Given the description of an element on the screen output the (x, y) to click on. 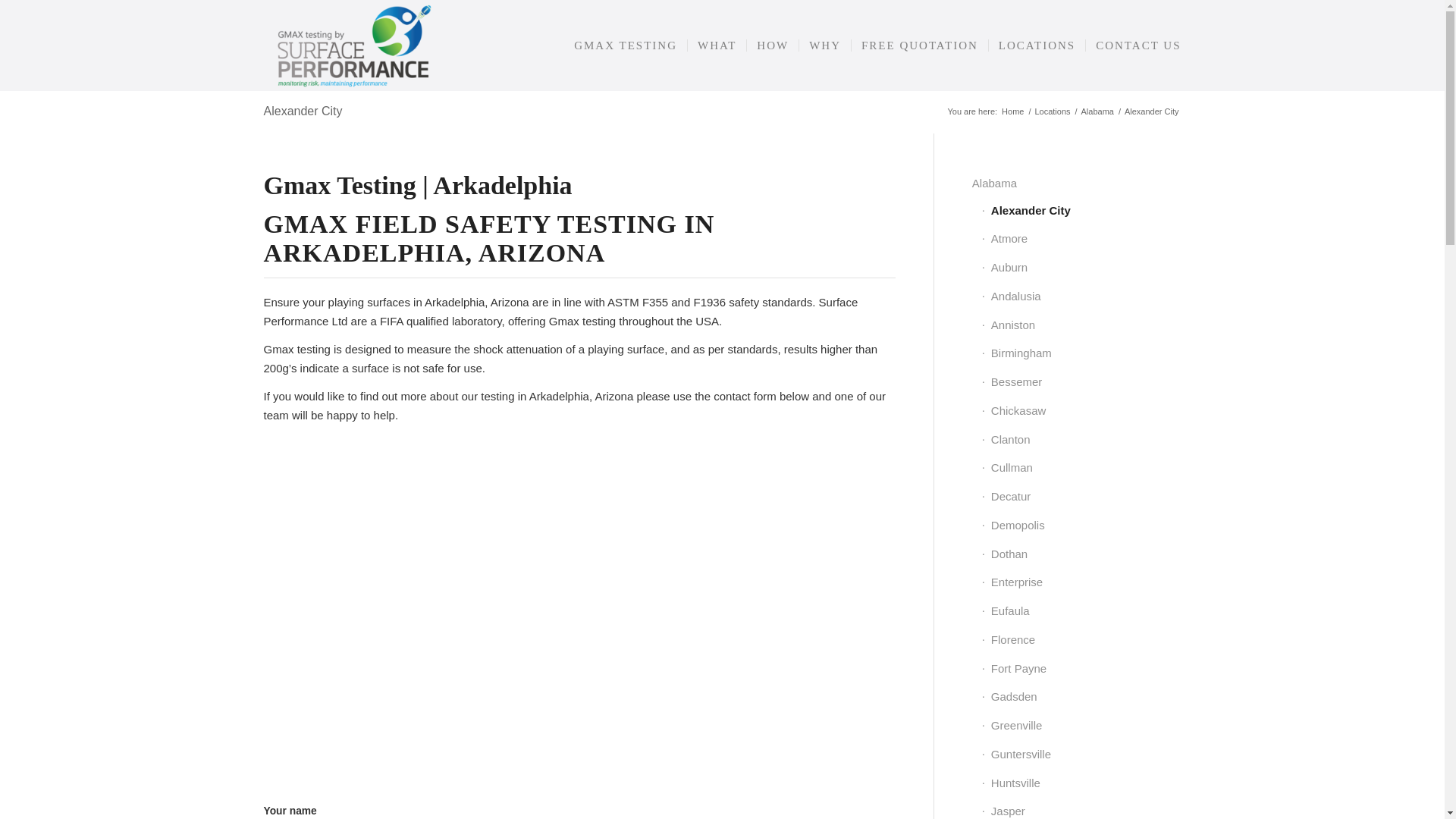
Bessemer (1080, 382)
Huntsville (1080, 783)
Alabama (1097, 111)
Enterprise (1080, 582)
Andalusia (1080, 297)
FREE QUOTATION (919, 45)
Dothan (1080, 554)
Gmax Testing (1012, 111)
Alabama (1076, 184)
Eufaula (1080, 611)
